Given the description of an element on the screen output the (x, y) to click on. 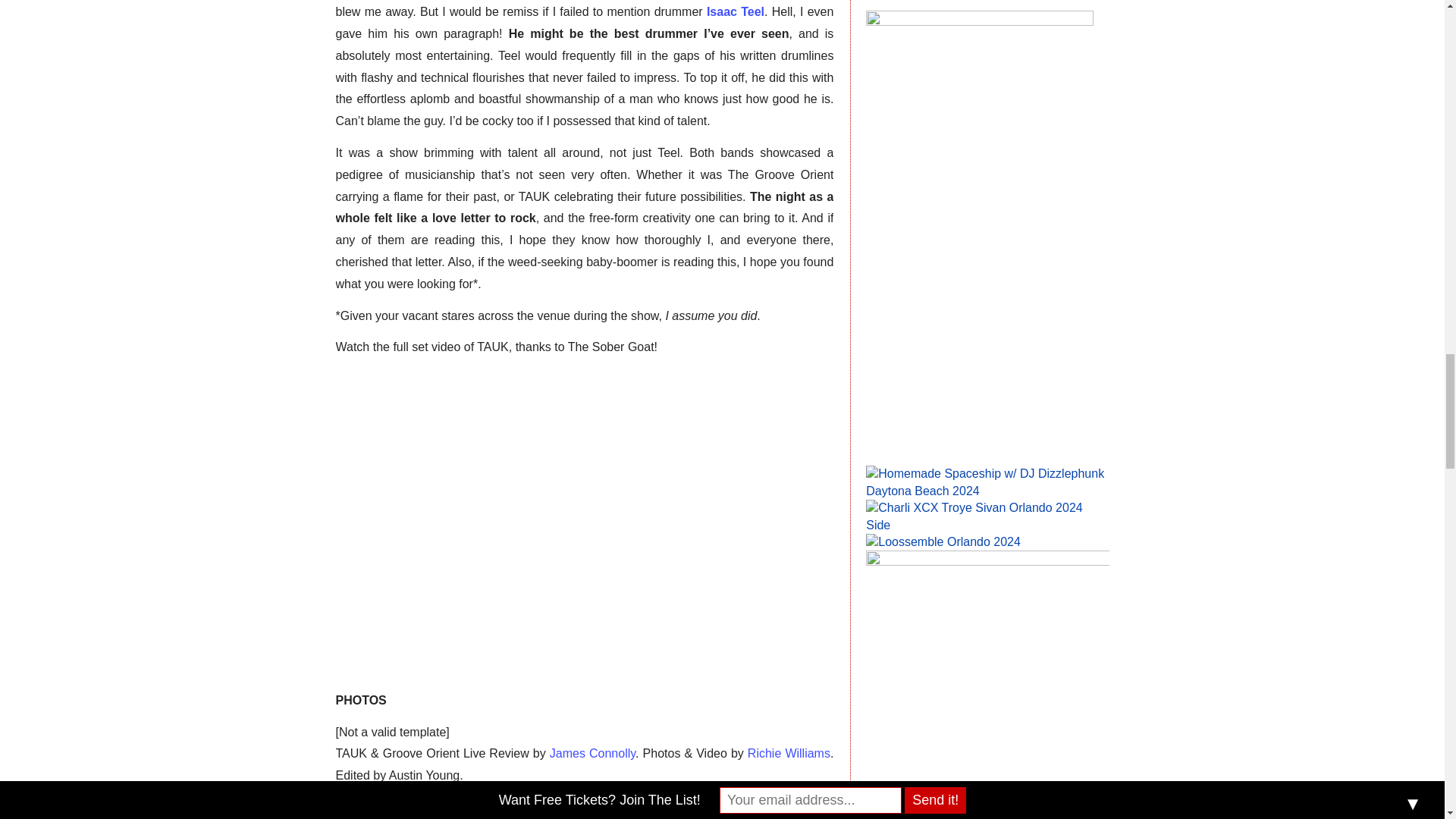
Richie Williams (788, 753)
James Connolly (592, 753)
Isaac Teel (735, 11)
Isaac Teel Youtube (735, 11)
Richie Williams (788, 753)
